Given the description of an element on the screen output the (x, y) to click on. 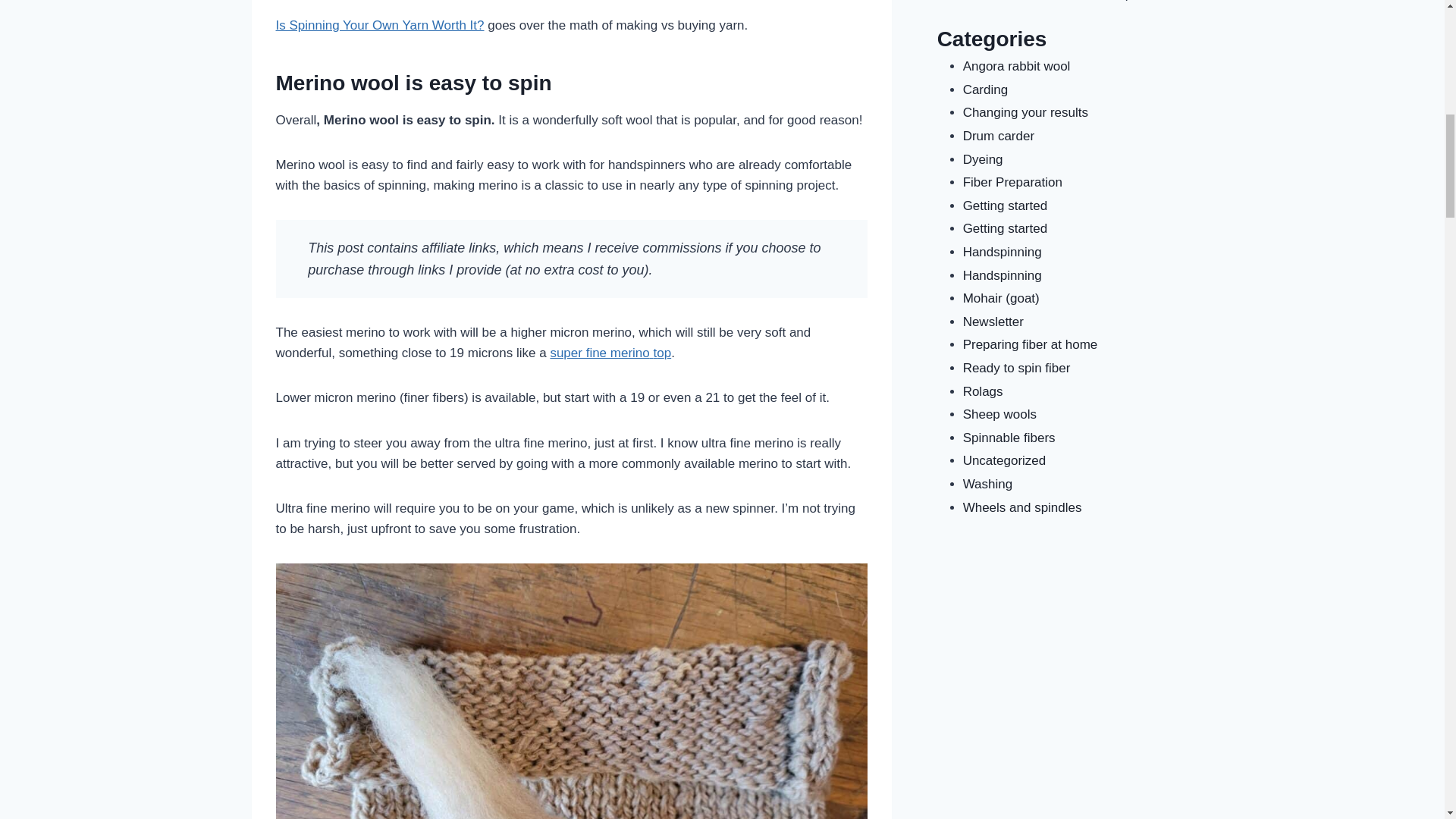
super fine merino (599, 352)
p (667, 352)
o (659, 352)
Is Spinning Your Own Yarn Worth It? (380, 25)
t (654, 352)
